Given the description of an element on the screen output the (x, y) to click on. 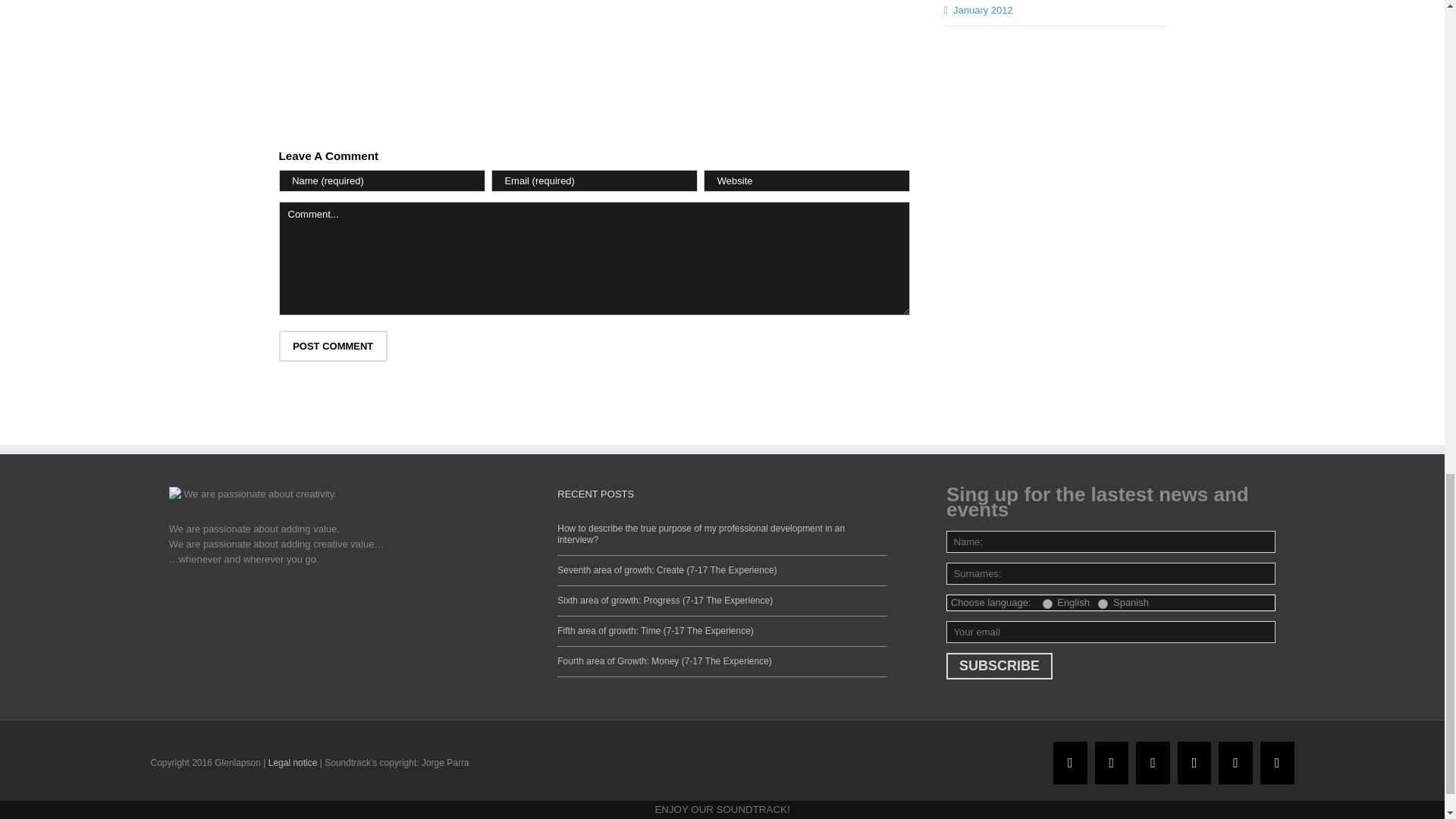
Subscribe (999, 665)
Your email (1110, 631)
Surnames: (1110, 573)
Name: (1110, 541)
English (1047, 603)
Post Comment (333, 345)
Spanish (1102, 603)
